Given the description of an element on the screen output the (x, y) to click on. 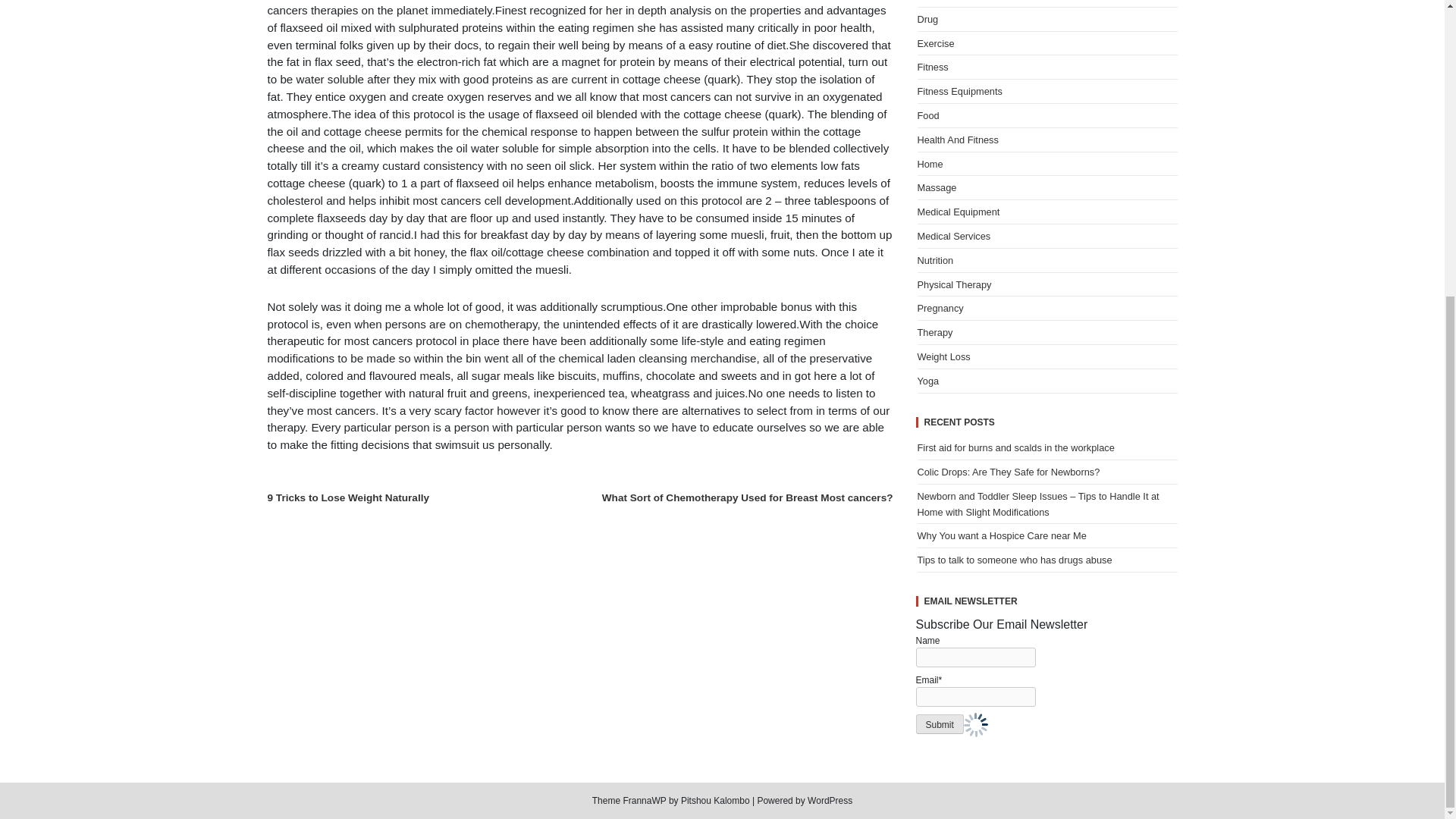
9 Tricks to Lose Weight Naturally (347, 497)
What Sort of Chemotherapy Used for Breast Most cancers? (747, 497)
Submit (939, 723)
